Given the description of an element on the screen output the (x, y) to click on. 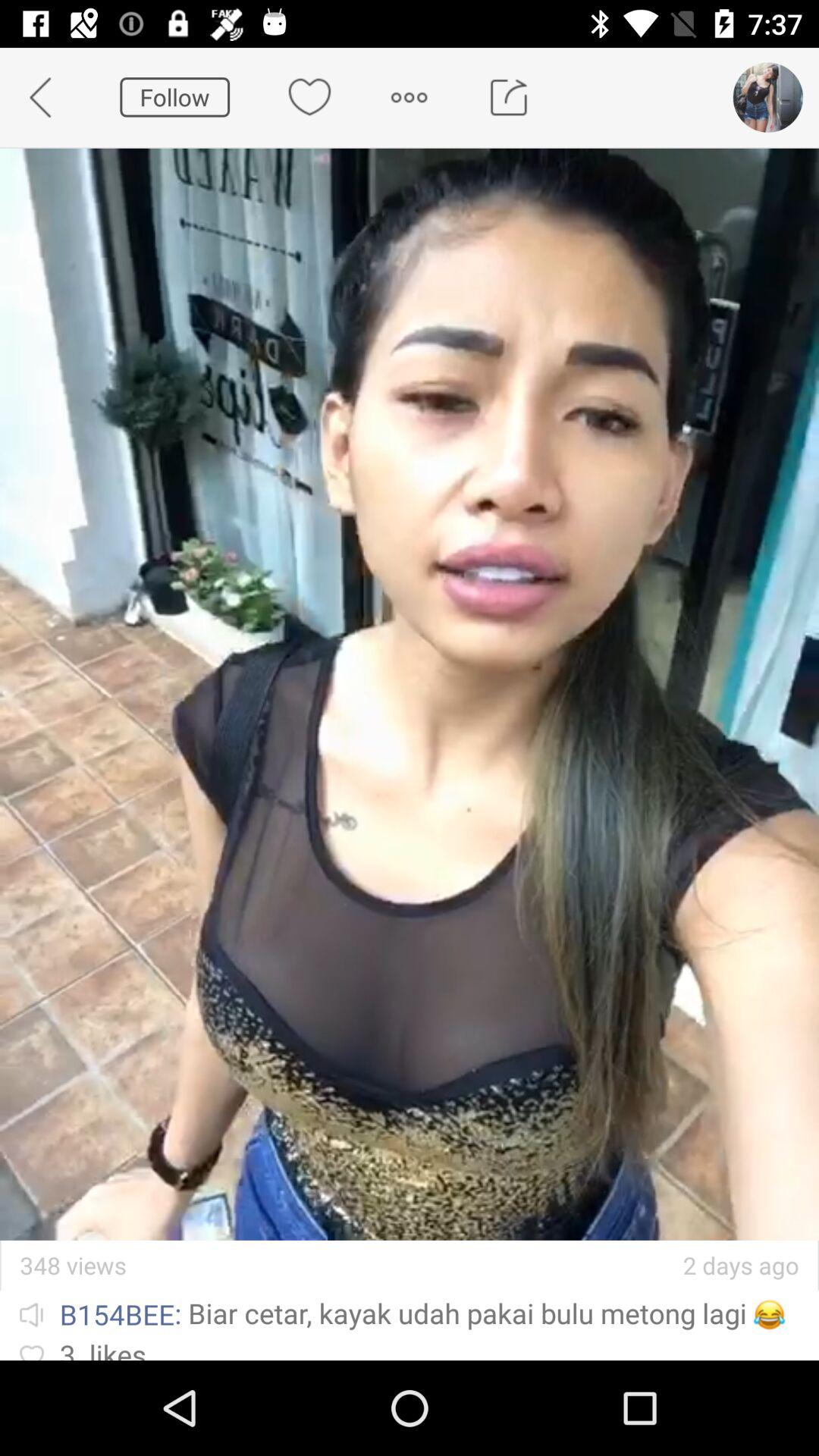
turn off item below ib154bee biar cetar icon (409, 1347)
